Given the description of an element on the screen output the (x, y) to click on. 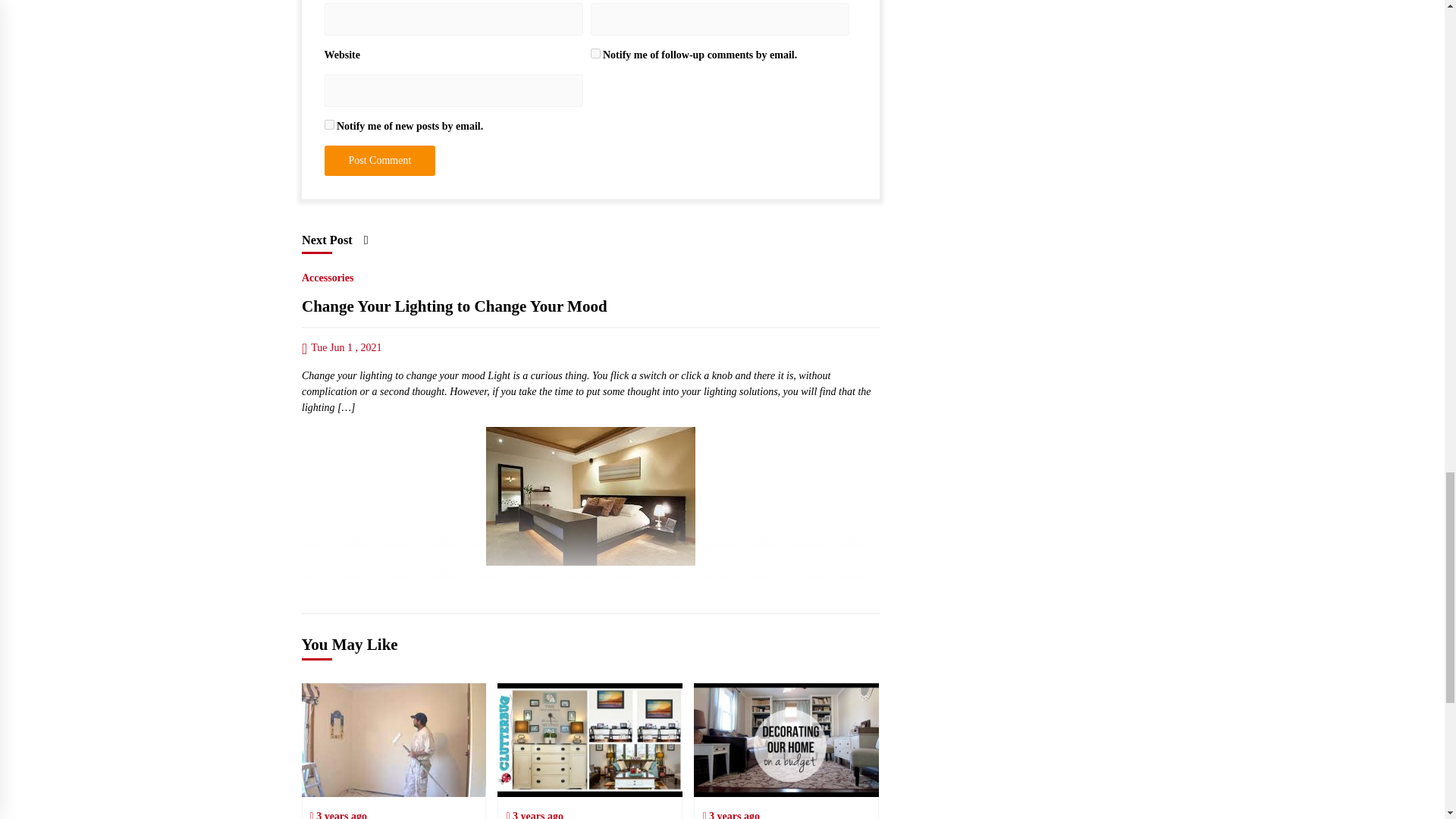
subscribe (594, 53)
Post Comment (379, 160)
subscribe (329, 124)
